Given the description of an element on the screen output the (x, y) to click on. 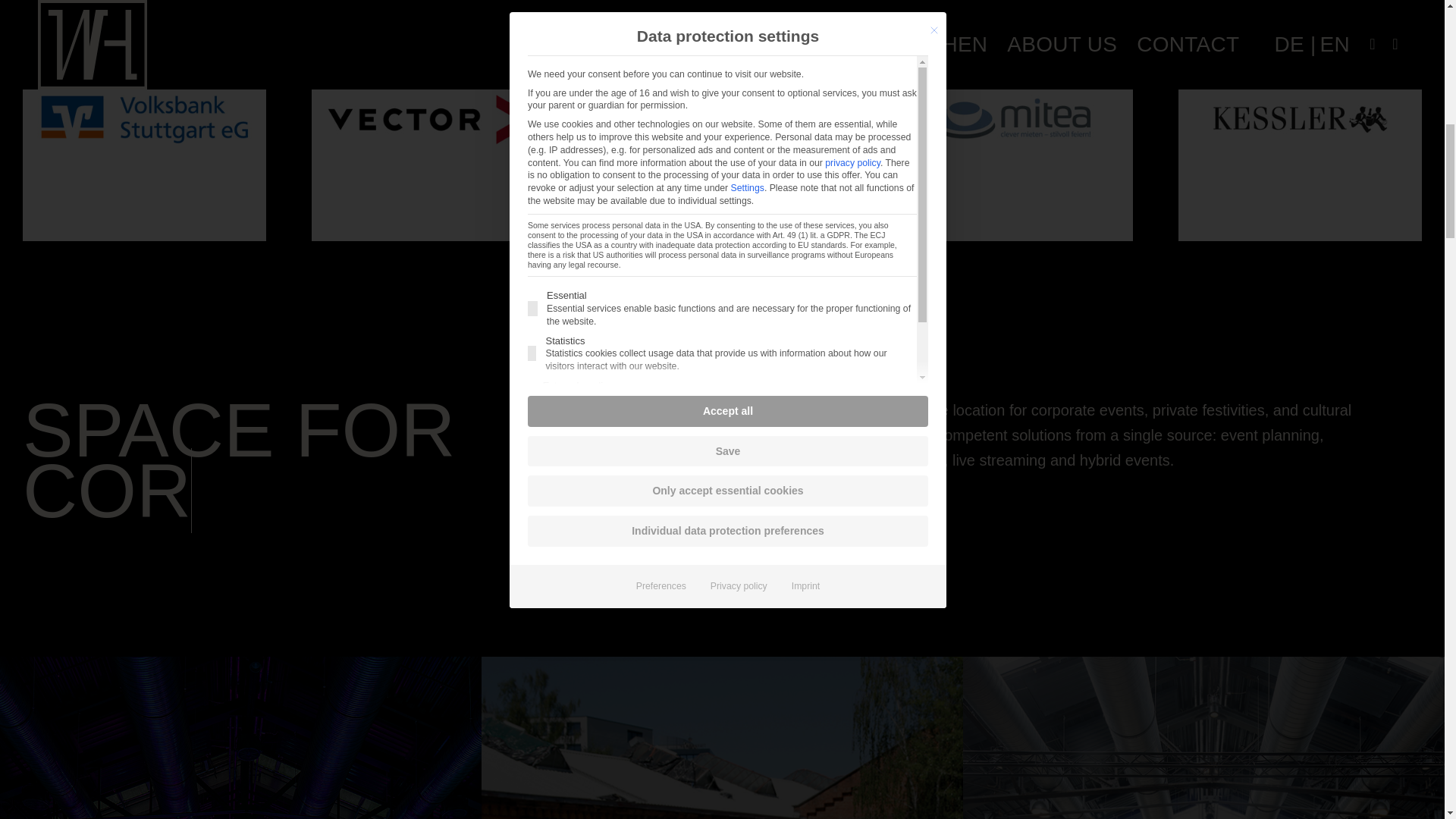
Start01 (240, 737)
